Given the description of an element on the screen output the (x, y) to click on. 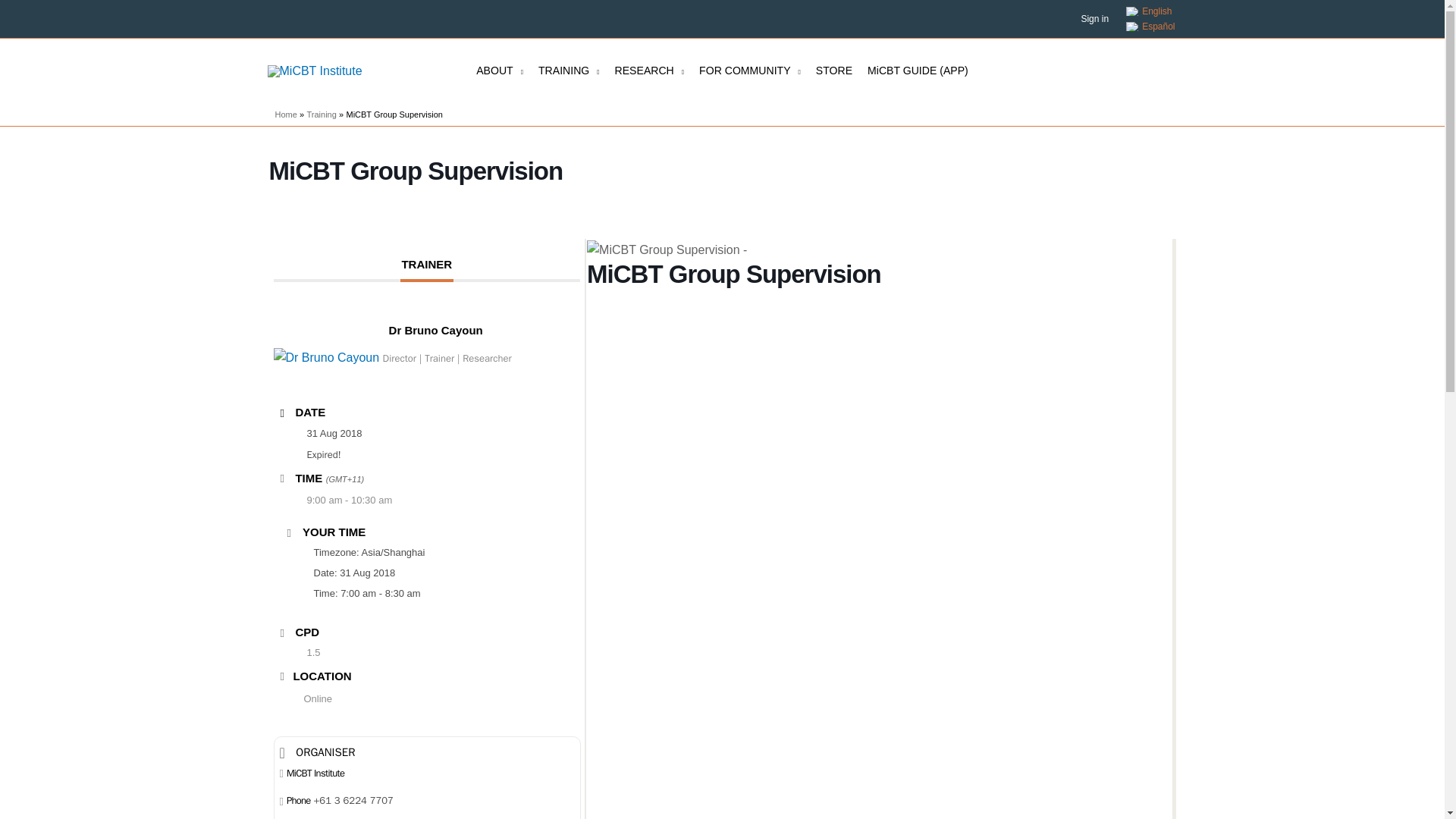
English (1149, 10)
Sign in (1094, 18)
ABOUT (499, 70)
